Given the description of an element on the screen output the (x, y) to click on. 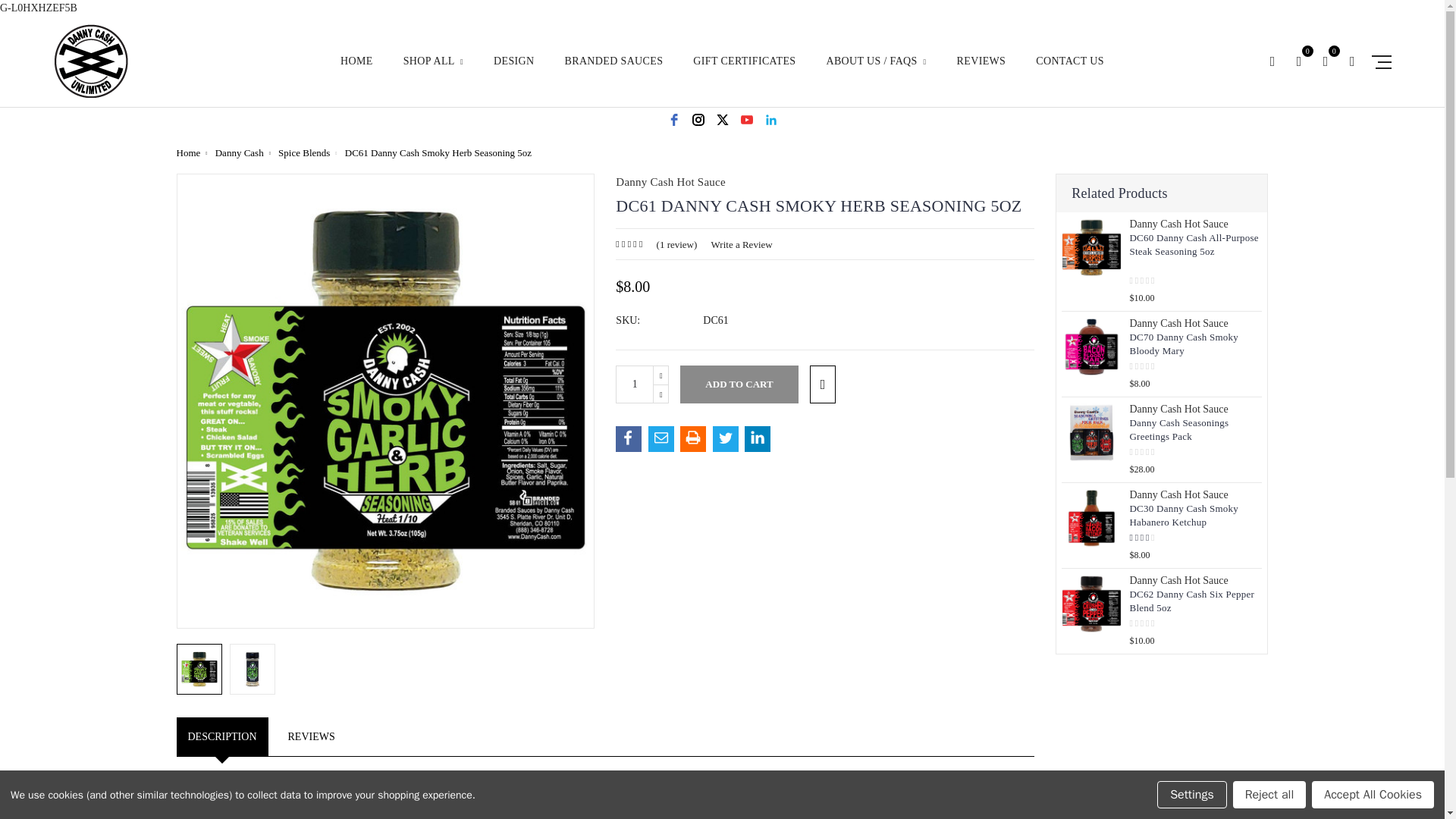
Instagram (697, 119)
DESIGN (513, 70)
LinkedIn (770, 119)
Danny Cash Hot Sauce (90, 61)
HOME (356, 70)
BRANDED SAUCES (613, 70)
SHOP ALL (433, 70)
CONTACT US (1069, 70)
Add to Cart (738, 384)
